Given the description of an element on the screen output the (x, y) to click on. 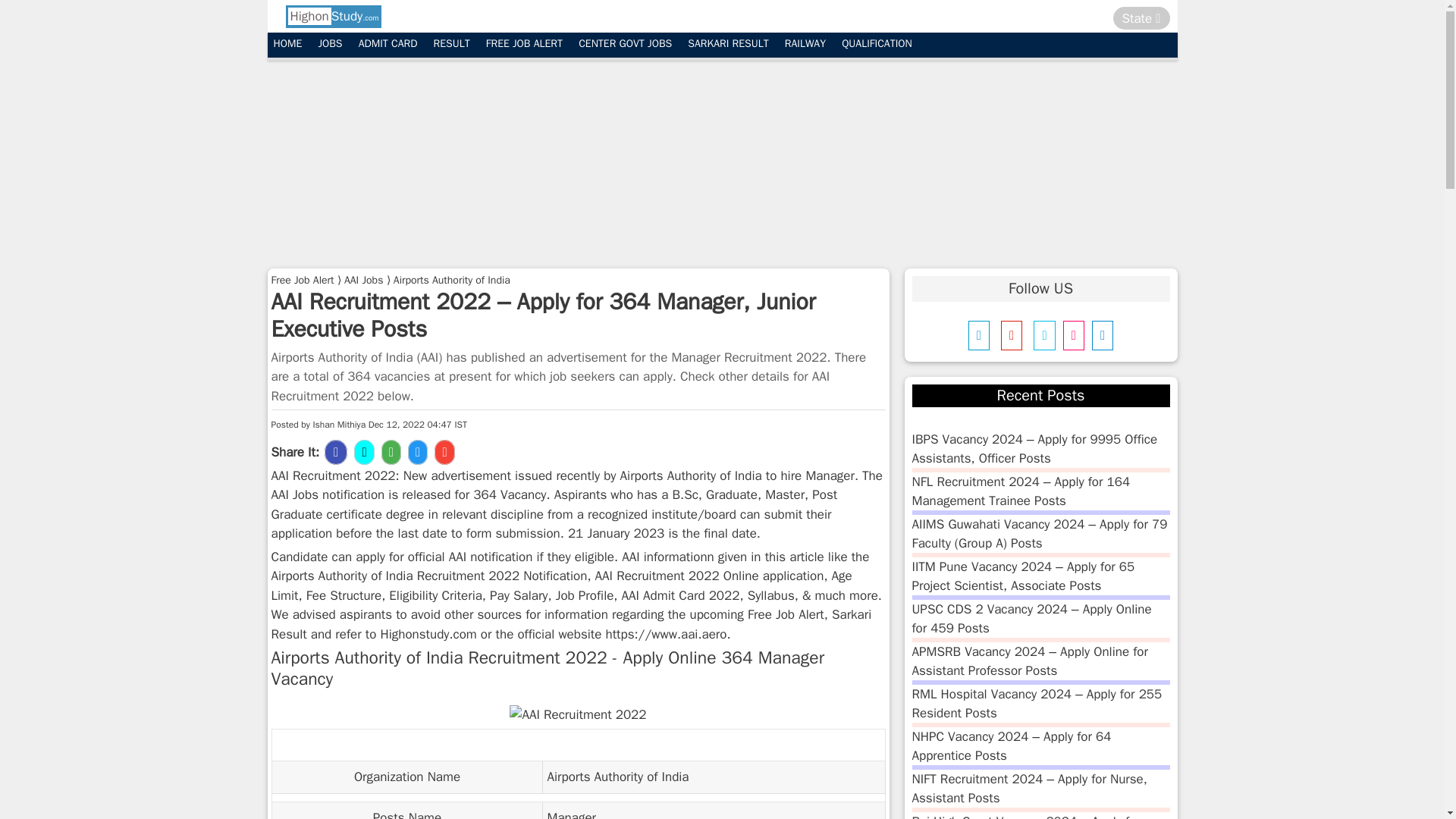
QUALIFICATION (876, 44)
Free Job Alert (302, 278)
CENTER GOVT JOBS (625, 44)
ADMIT CARD (387, 44)
RESULT (452, 44)
HOME (286, 44)
AAI Jobs (362, 278)
RAILWAY (804, 44)
FREE JOB ALERT (524, 44)
HighonStudy.com (332, 15)
JOBS (329, 44)
SARKARI RESULT (727, 44)
